Given the description of an element on the screen output the (x, y) to click on. 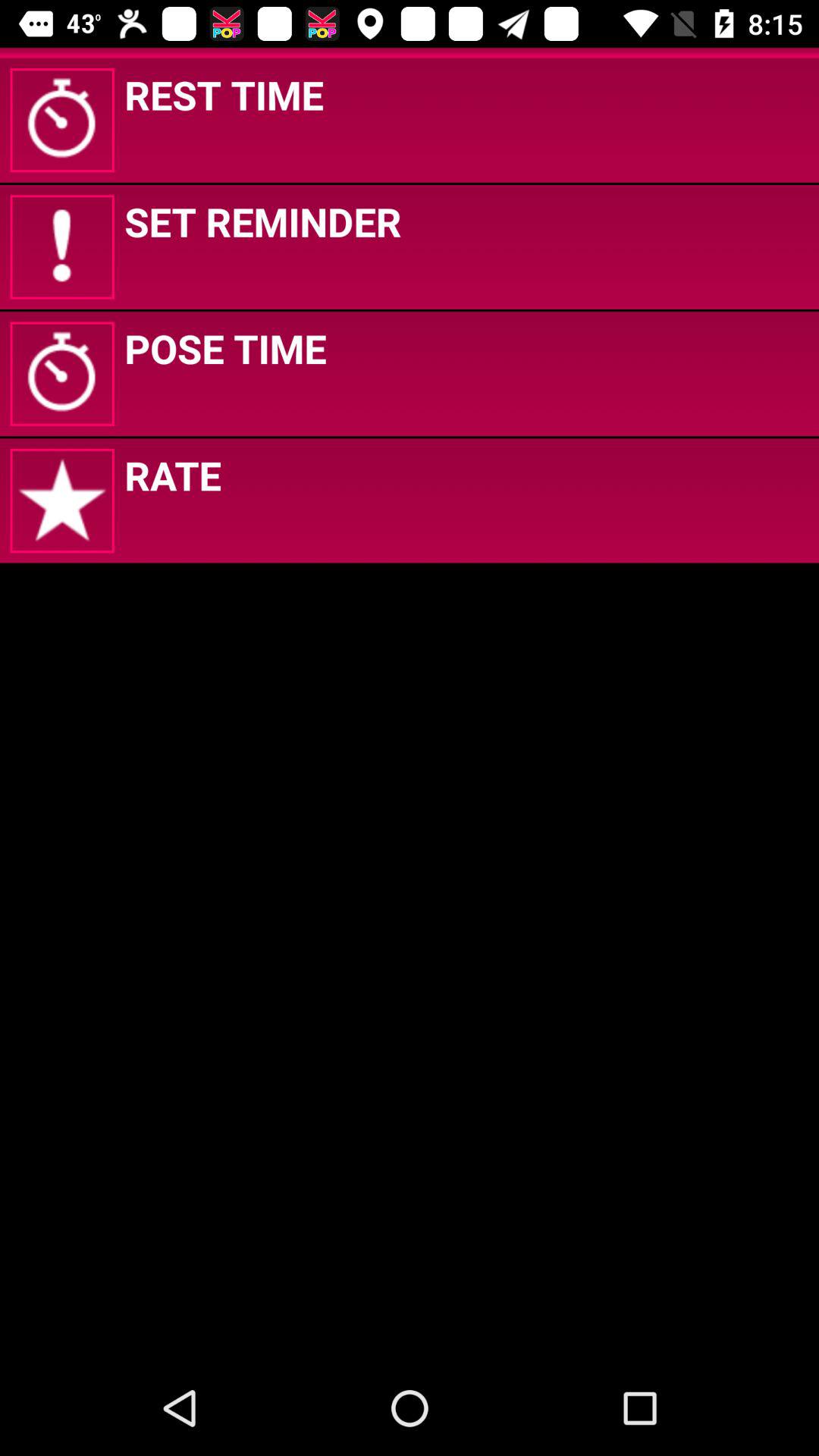
choose rate app (172, 474)
